Given the description of an element on the screen output the (x, y) to click on. 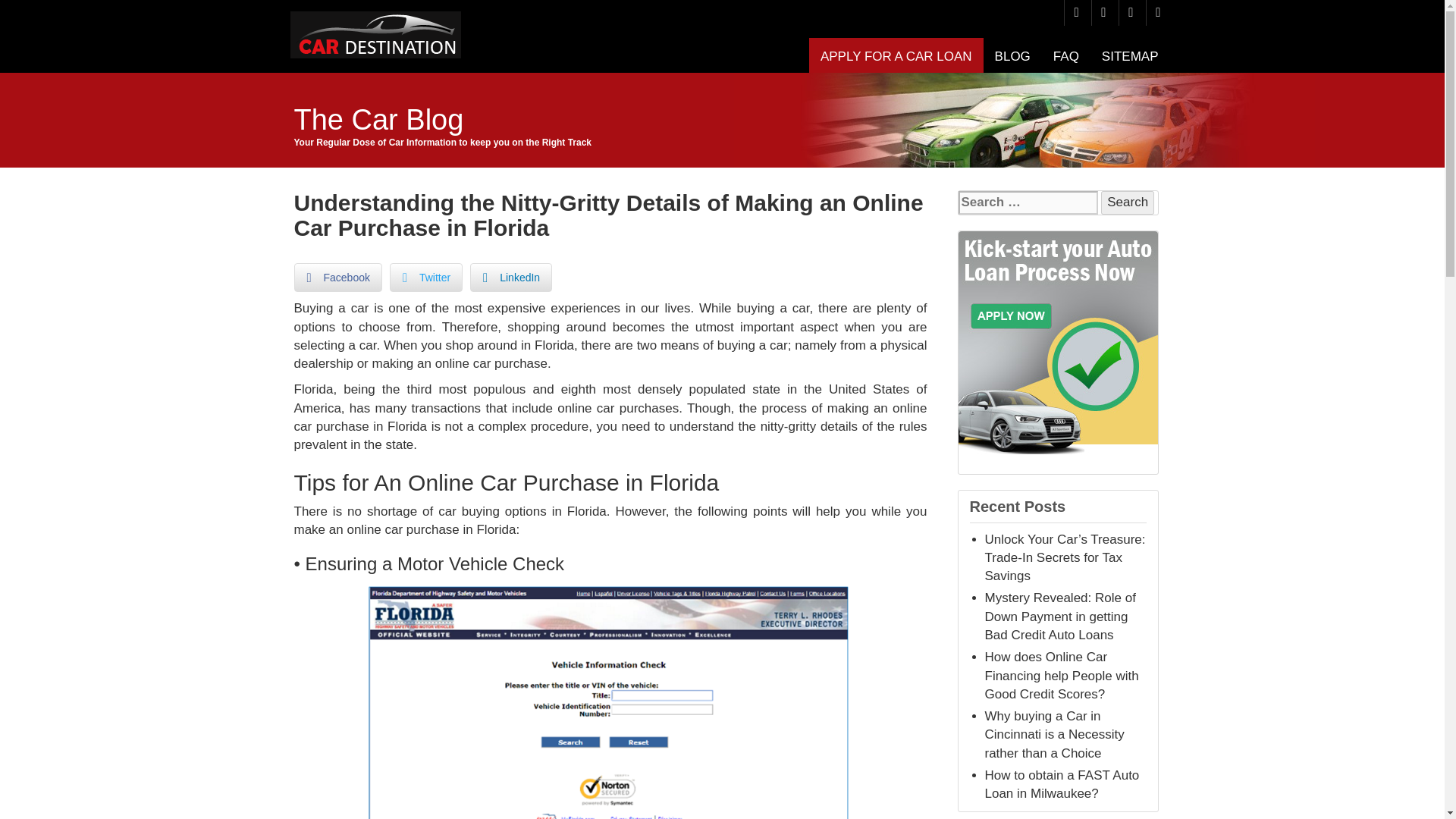
APPLY FOR A CAR LOAN (896, 54)
How to obtain a FAST Auto Loan in Milwaukee? (1061, 784)
LinkedIn (510, 276)
Search (1127, 201)
BLOG (1013, 54)
Search (1127, 201)
SITEMAP (1130, 54)
